Given the description of an element on the screen output the (x, y) to click on. 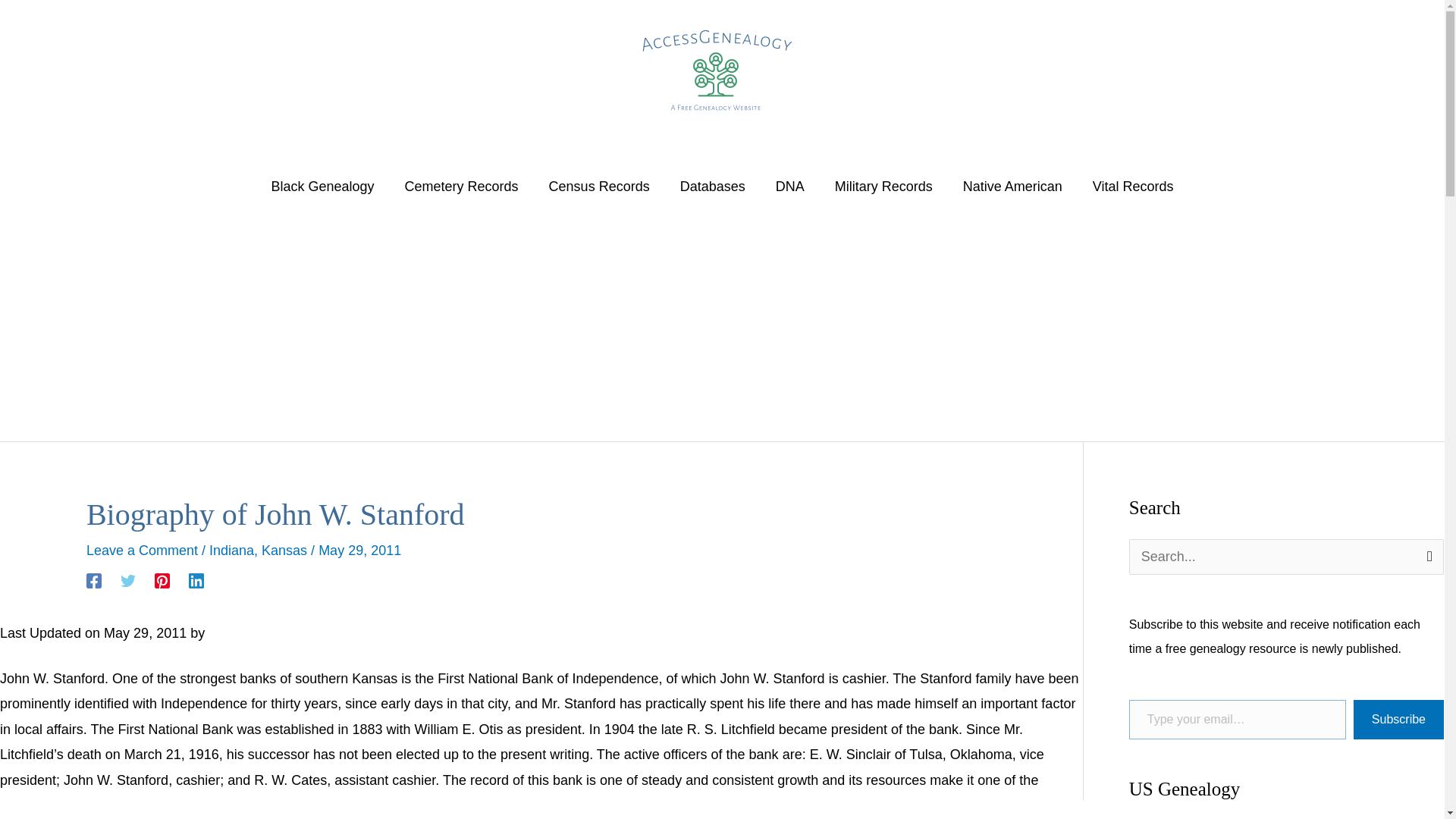
Military Records (883, 185)
Census Records (599, 185)
Indiana (231, 549)
United States Vital Records (1133, 185)
Subscribe (1399, 720)
DNA (789, 185)
Vital Records (1133, 185)
Native American History and Genealogy (1012, 185)
Leave a Comment (141, 549)
Kansas (284, 549)
